Given the description of an element on the screen output the (x, y) to click on. 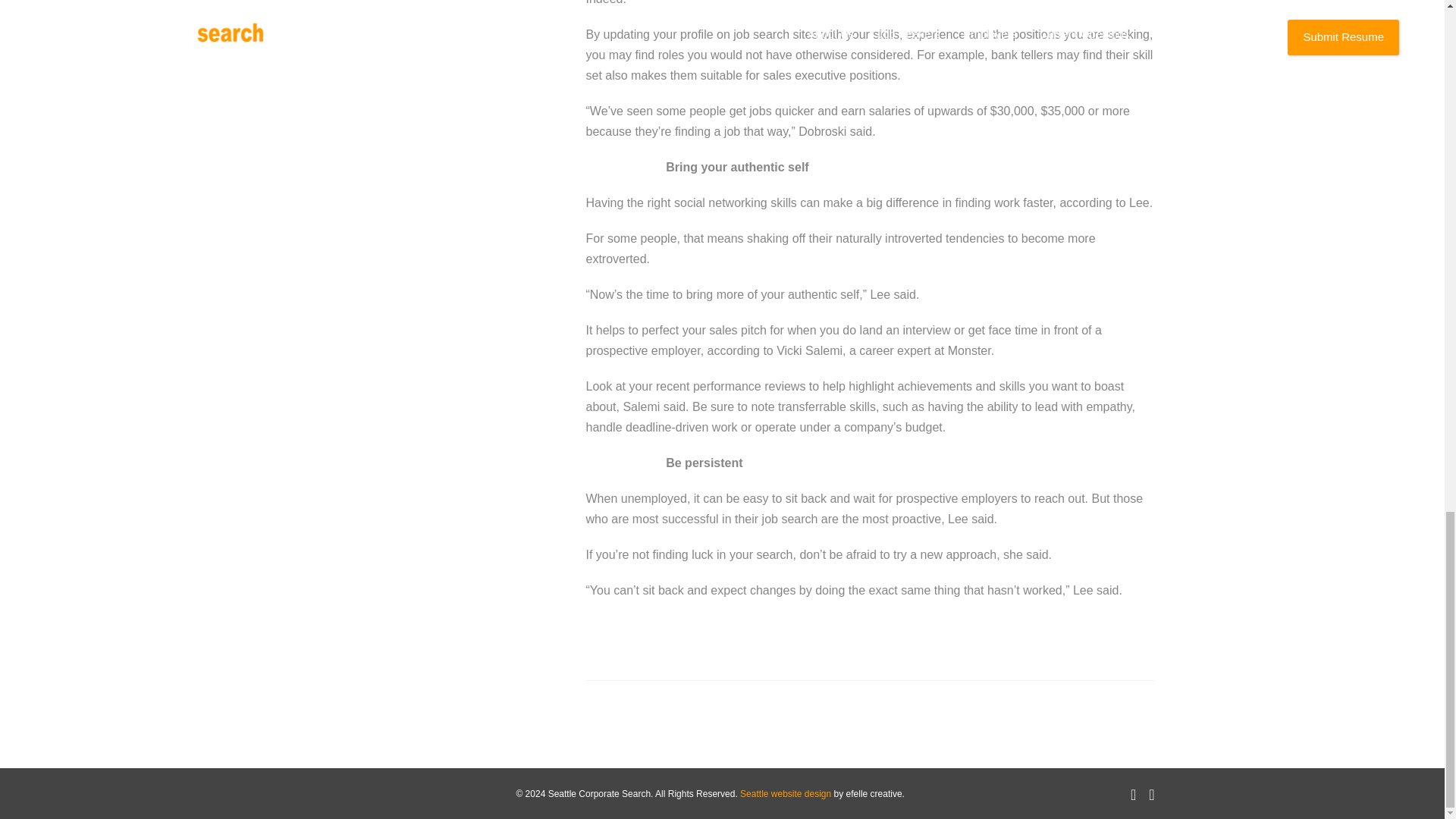
Seattle website design (785, 793)
Seattle Web Design (785, 793)
